Given the description of an element on the screen output the (x, y) to click on. 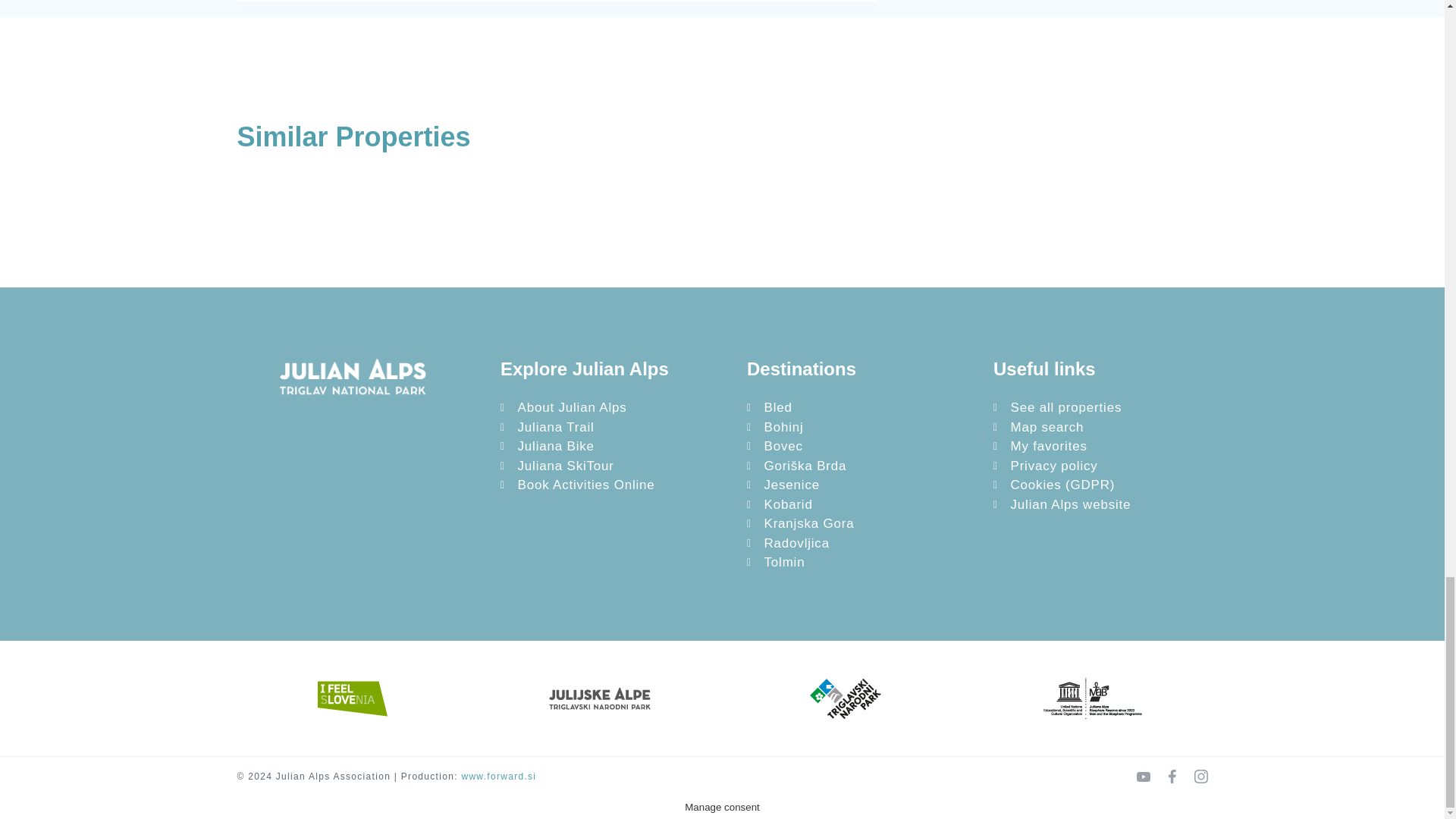
Tolmin (857, 562)
Kobarid (857, 505)
Juliana Trail (611, 427)
Juliana SkiTour (611, 465)
Bovec (857, 446)
See all properties (1103, 407)
Bled (857, 407)
Jesenice (857, 485)
Juliana Bike (611, 446)
Radovljica (857, 543)
